Given the description of an element on the screen output the (x, y) to click on. 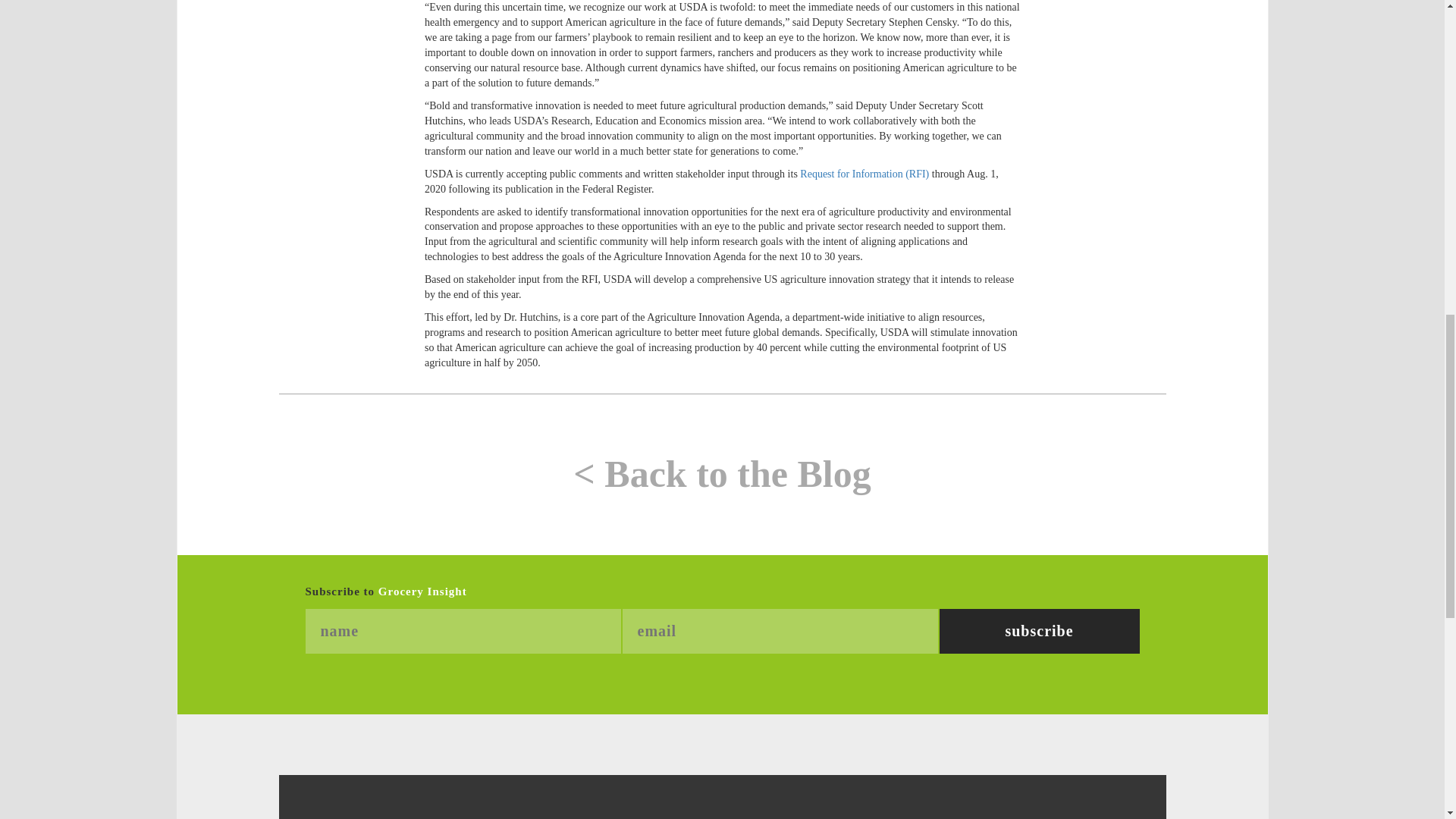
Subscribe (1038, 631)
Subscribe (1038, 631)
